Given the description of an element on the screen output the (x, y) to click on. 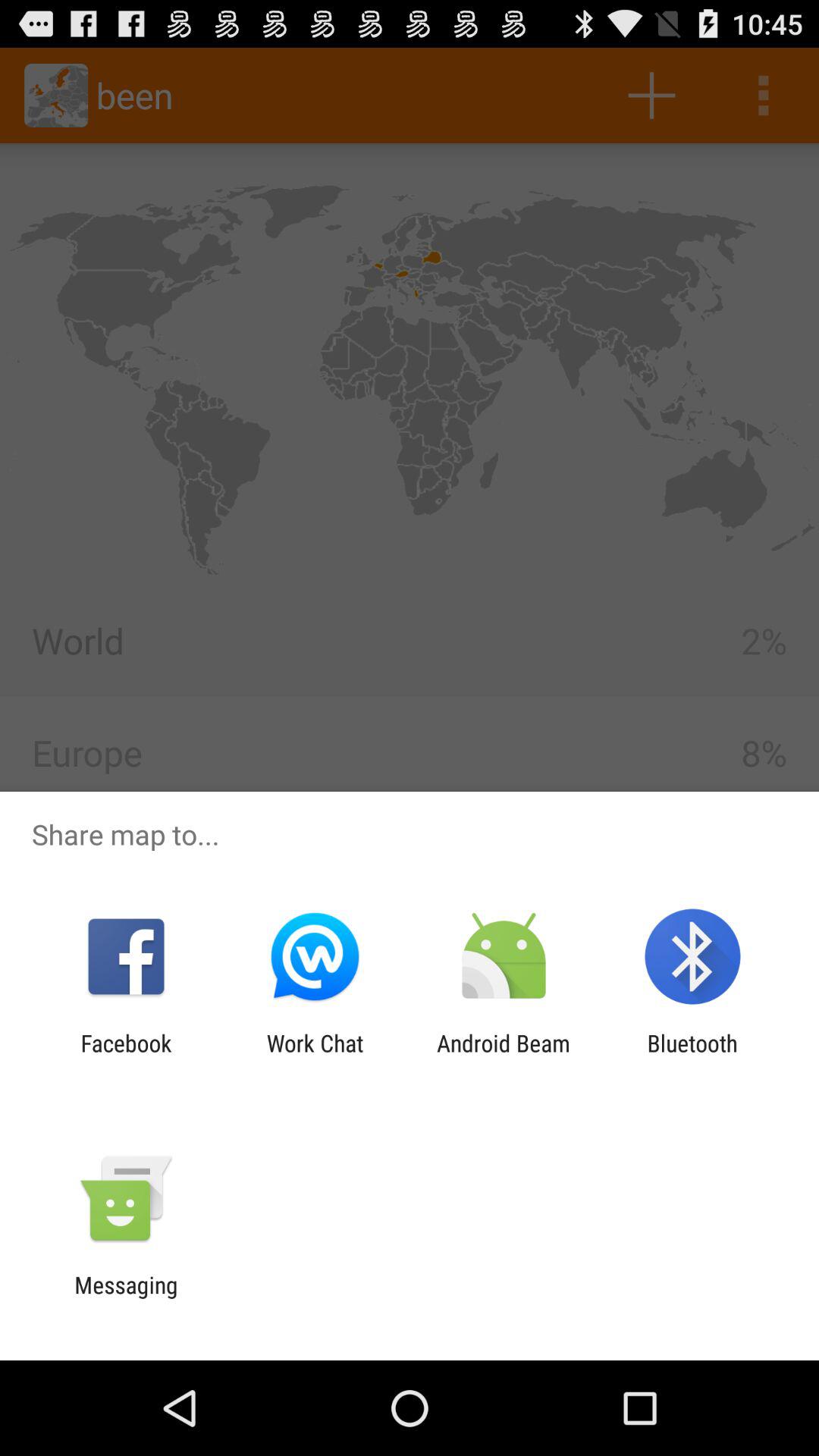
turn off the item next to the facebook item (314, 1056)
